Given the description of an element on the screen output the (x, y) to click on. 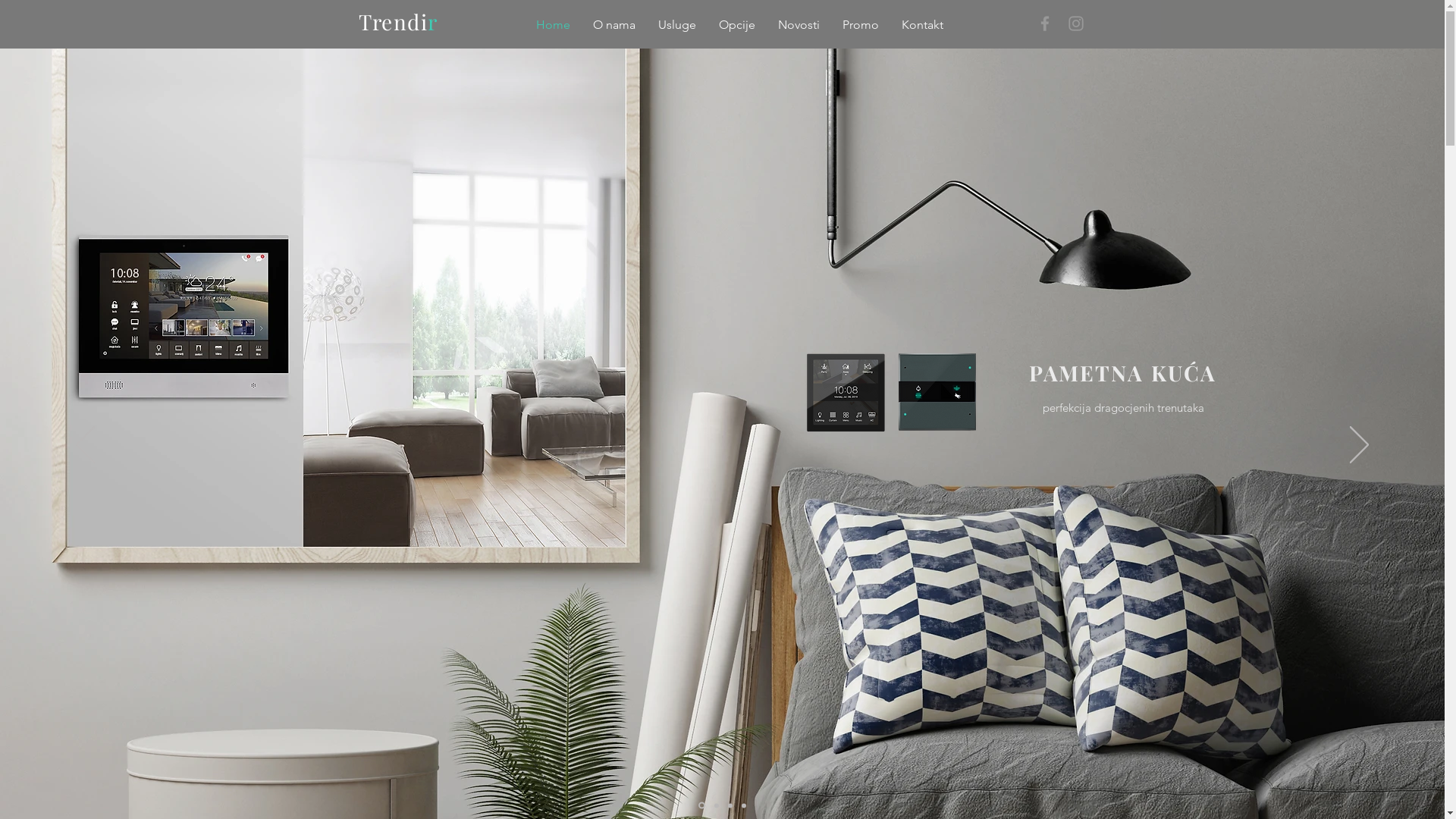
Trendi Element type: text (391, 21)
Opcije Element type: text (735, 24)
O nama Element type: text (613, 24)
Home Element type: text (552, 24)
Kontakt Element type: text (922, 24)
r Element type: text (432, 21)
Usluge Element type: text (676, 24)
Novosti Element type: text (797, 24)
Promo Element type: text (860, 24)
